Given the description of an element on the screen output the (x, y) to click on. 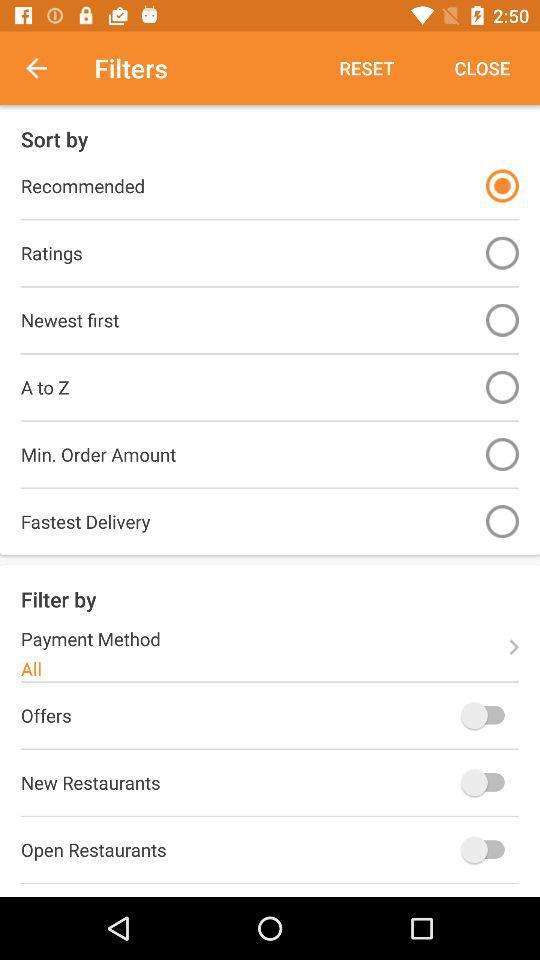
sort by ratings (502, 252)
